Given the description of an element on the screen output the (x, y) to click on. 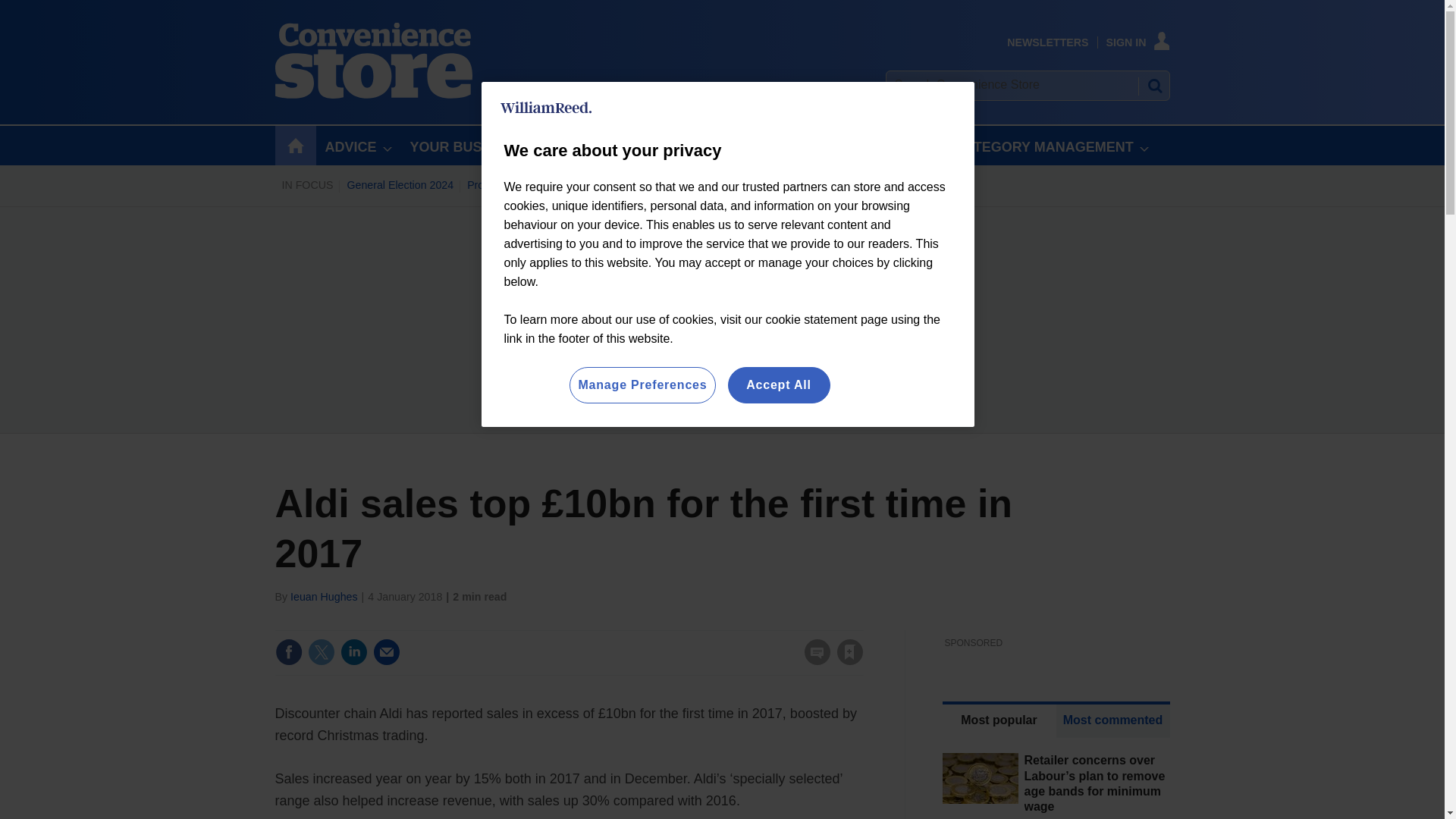
Email this article (386, 651)
Products in Depth (509, 184)
Share this on Facebook (288, 651)
Share this on Linked in (352, 651)
SIGN IN (1138, 42)
Site name (373, 93)
Post Office Horizon (612, 184)
Share this on Twitter (320, 651)
General Election 2024 (399, 184)
SEARCH (1153, 85)
NEWSLETTERS (1047, 42)
Convenience Store Vision (857, 184)
No comments (812, 661)
William Reed (545, 107)
